Given the description of an element on the screen output the (x, y) to click on. 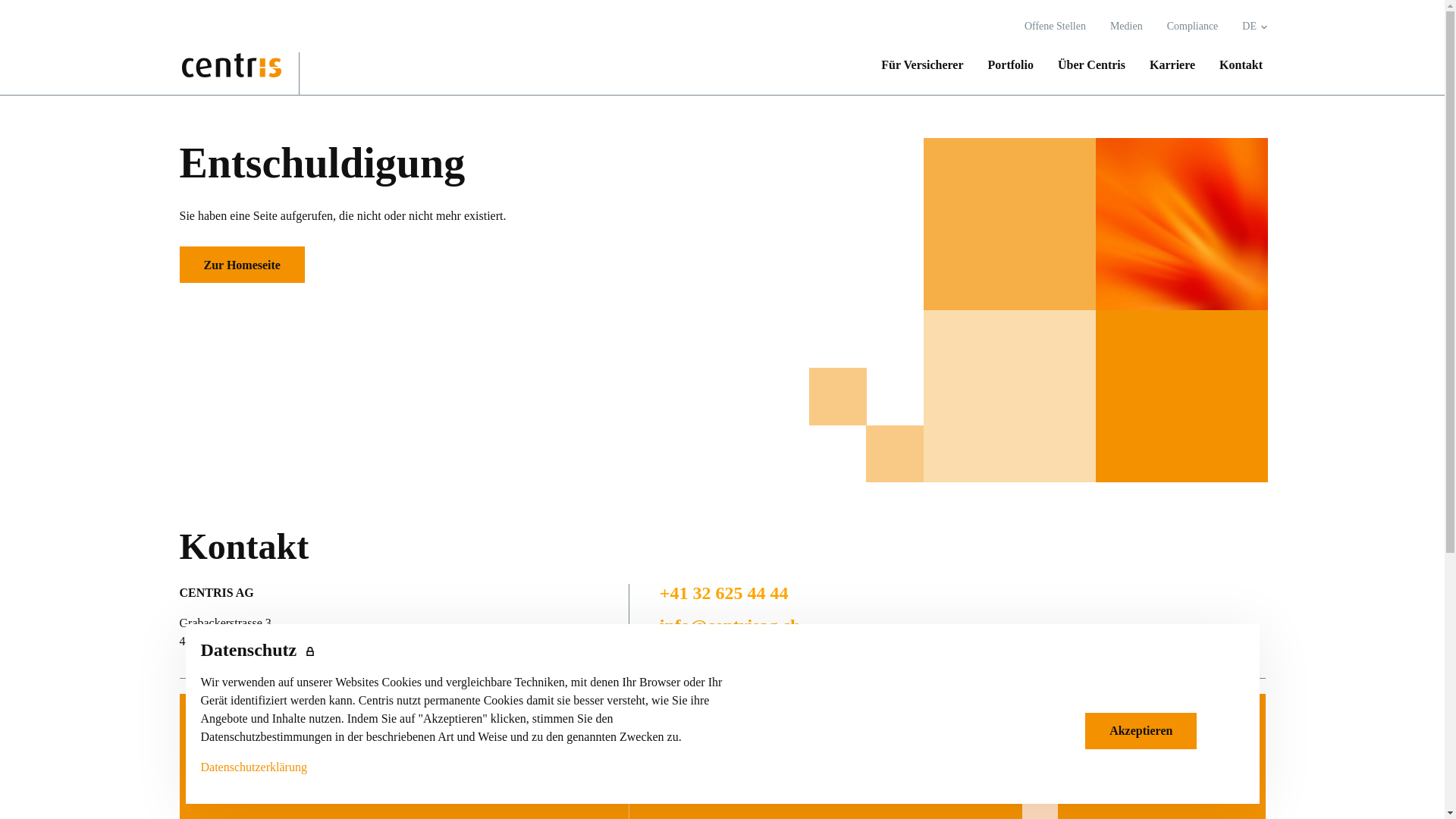
Portfolio Element type: text (256, 793)
info@centrisag.ch Element type: text (729, 625)
Karriere Element type: text (1172, 65)
Akzeptieren Element type: text (1140, 730)
DE Element type: text (1248, 26)
+41 32 625 44 44 Element type: text (723, 592)
Offene Stellen Element type: text (1055, 26)
Zur Homeseite Element type: text (241, 264)
Kontakt Element type: text (1234, 65)
Compliance Element type: text (1192, 26)
Medien Element type: text (1126, 26)
Portfolio Element type: text (1010, 65)
